Given the description of an element on the screen output the (x, y) to click on. 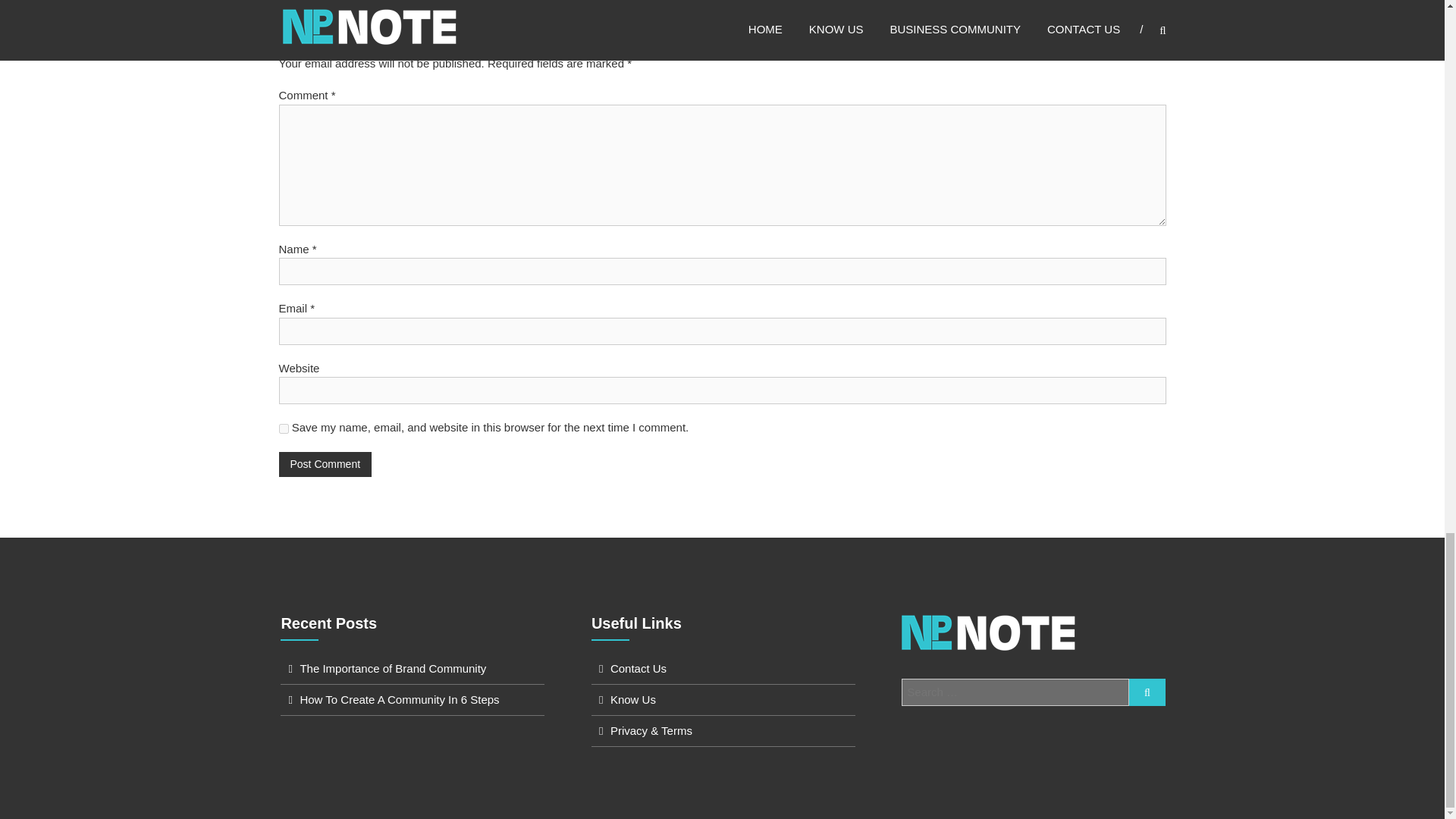
yes (283, 429)
Post Comment (325, 464)
How To Create A Community In 6 Steps (399, 698)
Search (1147, 691)
Post Comment (325, 464)
Contact Us (638, 667)
The Importance of Brand Community (392, 667)
Know Us (633, 698)
